Given the description of an element on the screen output the (x, y) to click on. 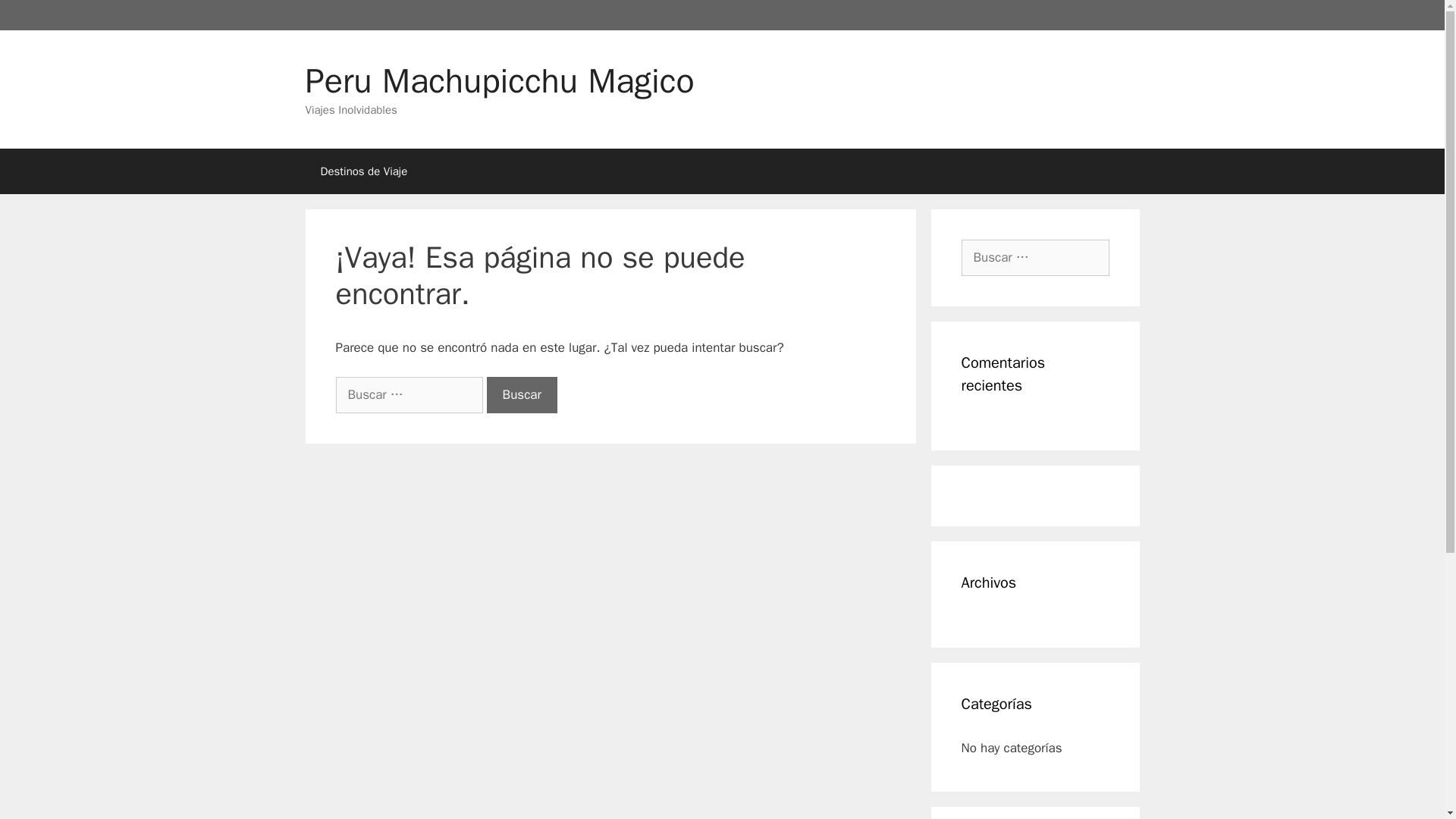
Buscar (521, 394)
Buscar (521, 394)
Buscar: (407, 394)
Destinos de Viaje (363, 171)
Buscar (34, 18)
Peru Machupicchu Magico (499, 79)
Buscar (521, 394)
Buscar: (1034, 257)
